Given the description of an element on the screen output the (x, y) to click on. 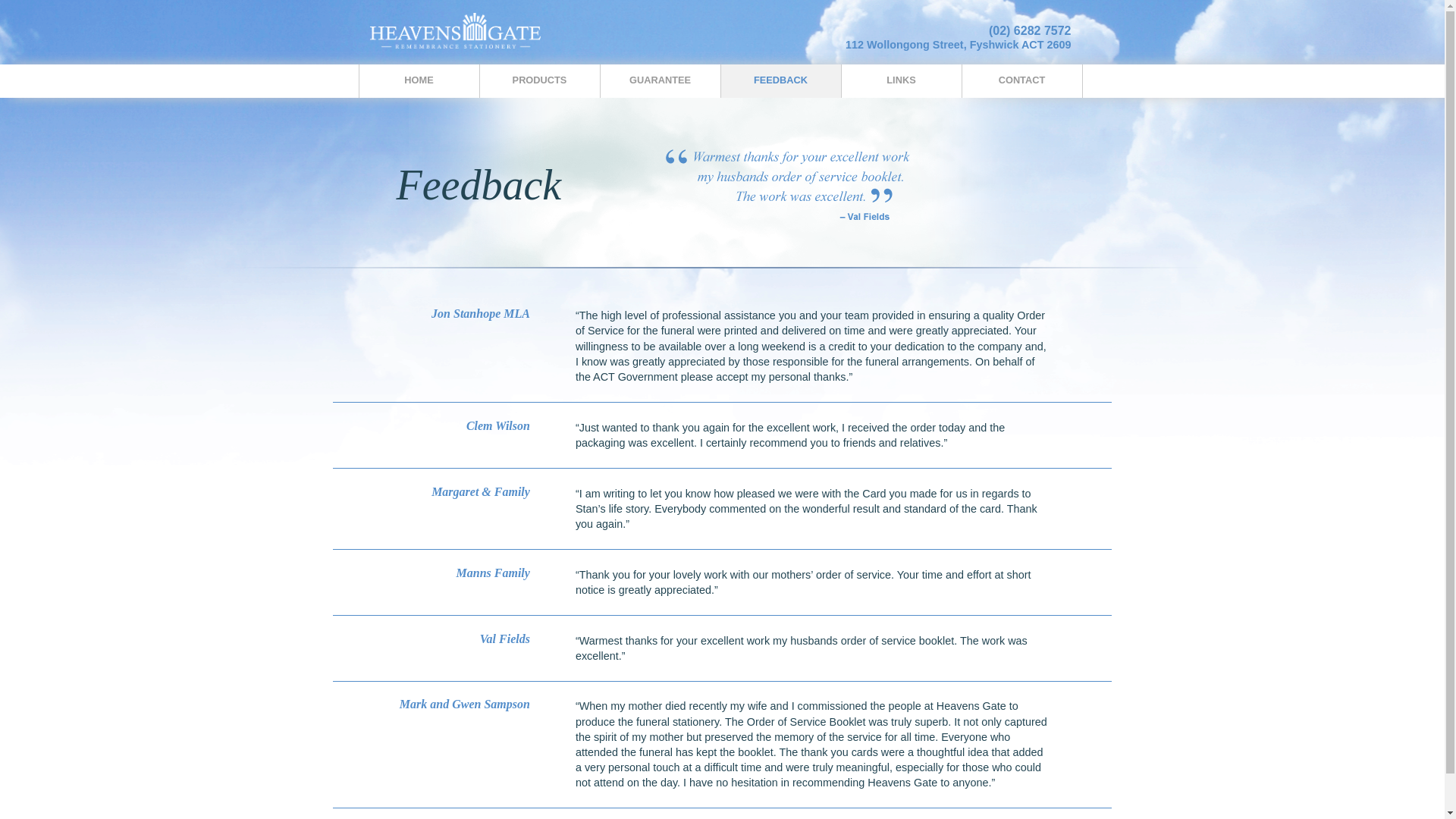
HOME Element type: text (417, 80)
CONTACT Element type: text (1021, 80)
PRODUCTS Element type: text (539, 80)
LINKS Element type: text (900, 80)
FEEDBACK Element type: text (780, 80)
GUARANTEE Element type: text (659, 80)
